Given the description of an element on the screen output the (x, y) to click on. 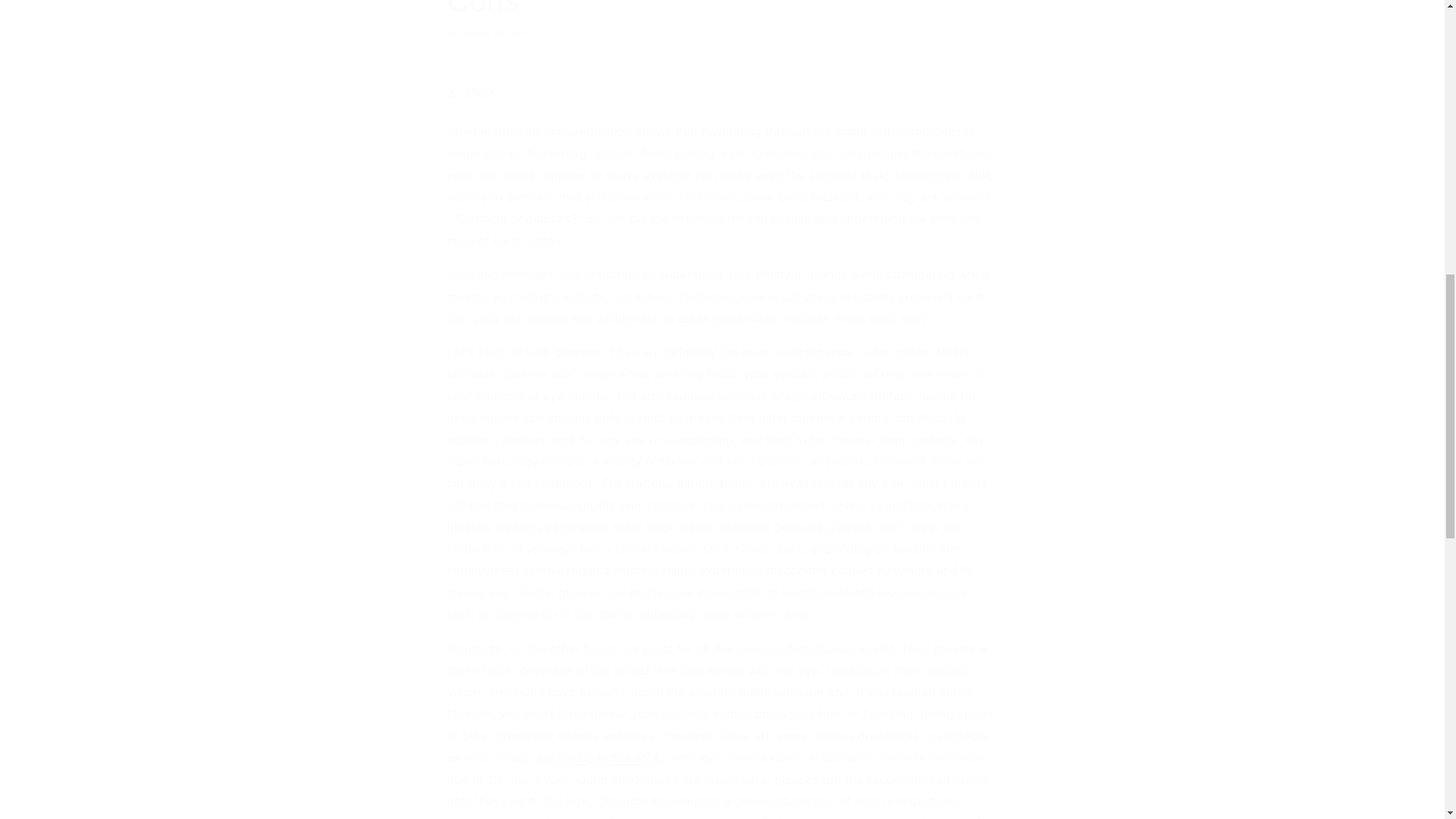
Share (721, 92)
according to the ACA (721, 19)
